Given the description of an element on the screen output the (x, y) to click on. 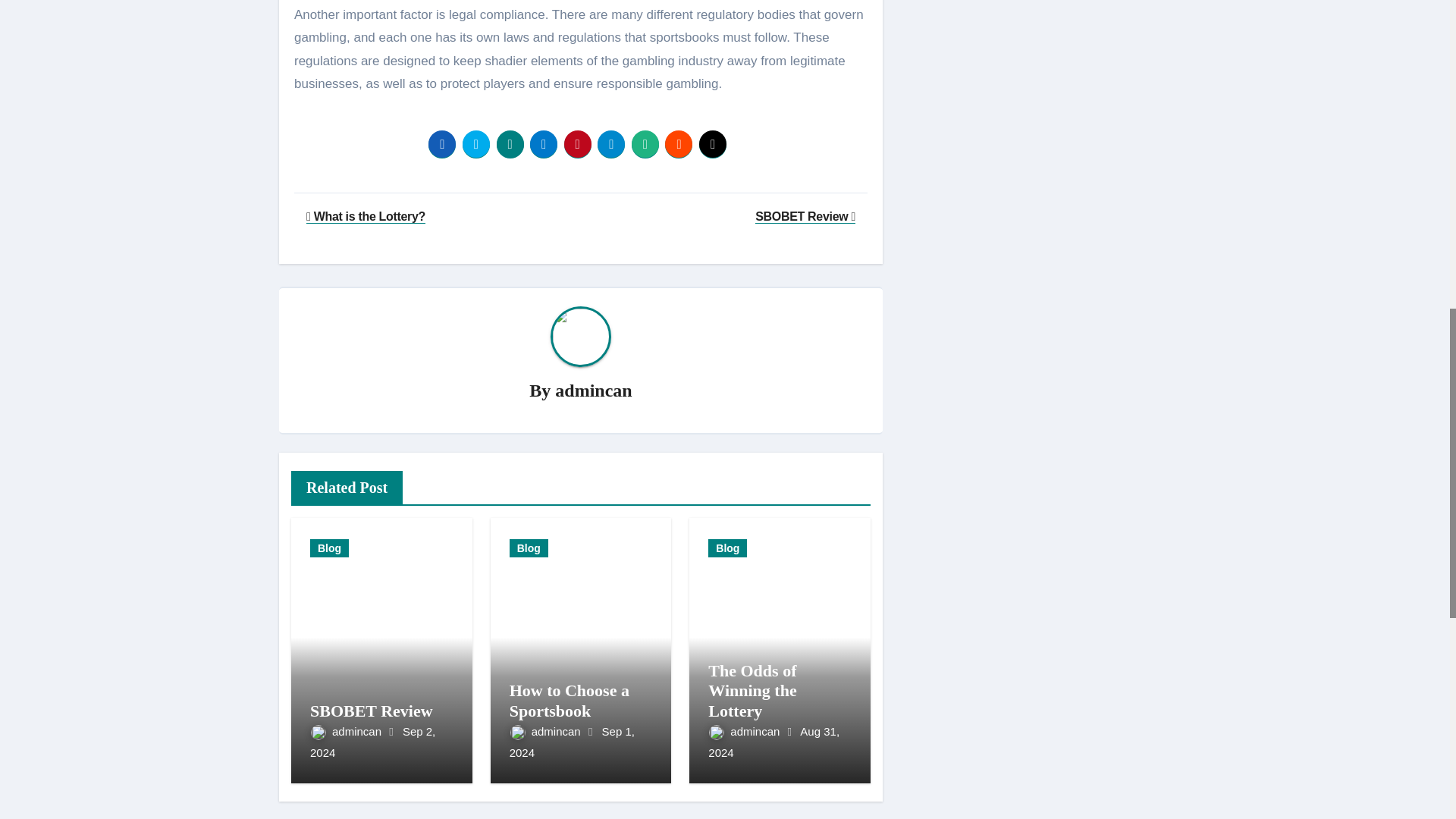
Permalink to: How to Choose a Sportsbook (568, 699)
Permalink to: SBOBET Review (371, 710)
Permalink to: The Odds of Winning the Lottery (751, 690)
